Given the description of an element on the screen output the (x, y) to click on. 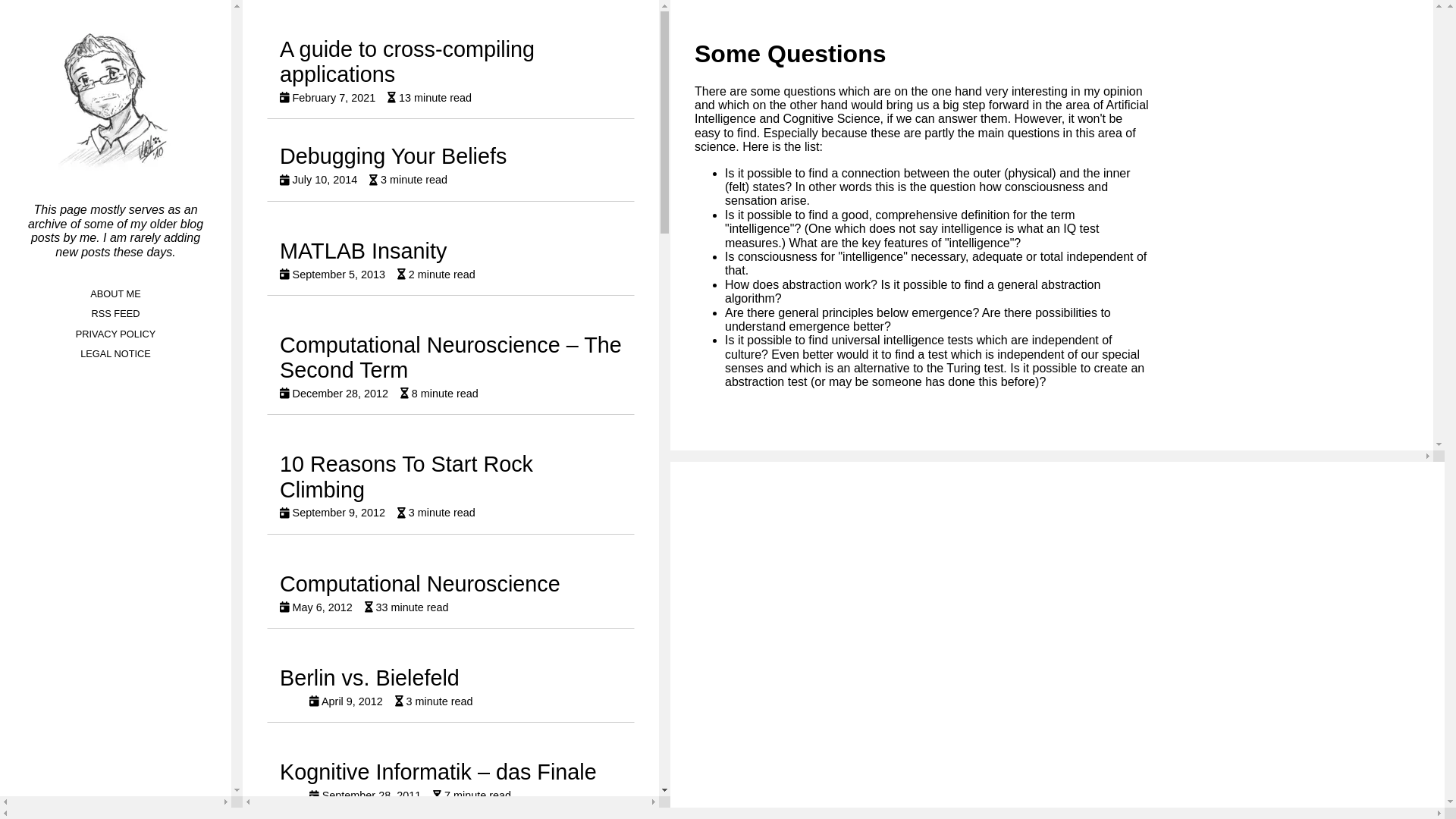
Estimated time to read (407, 179)
Date posted (327, 97)
Estimated time to read (450, 165)
Estimated time to read (436, 274)
Date posted (439, 393)
Estimated time to read (333, 393)
RSS FEED (429, 97)
Date posted (114, 313)
ABOUT ME (332, 274)
